Given the description of an element on the screen output the (x, y) to click on. 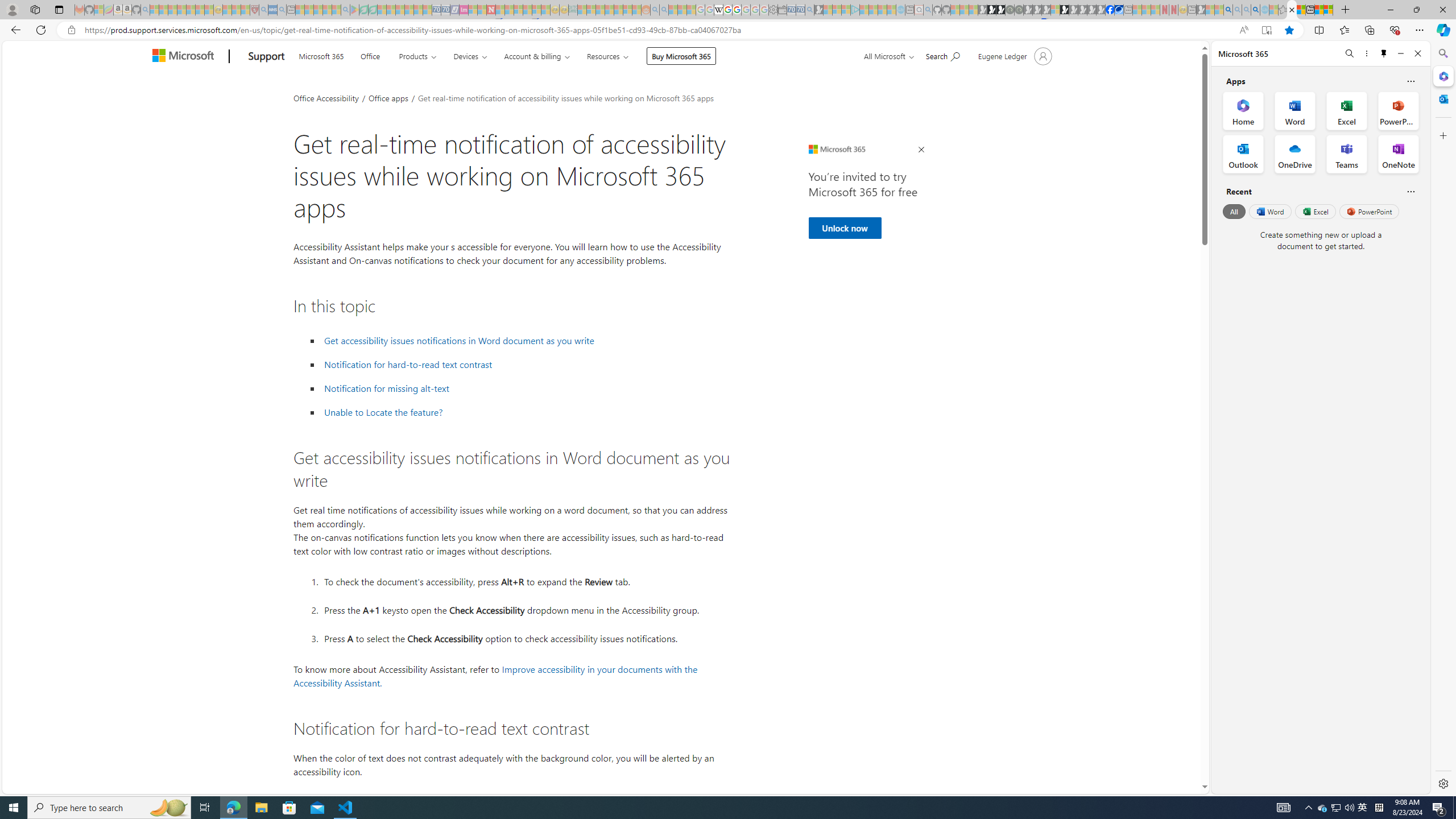
 Notification for missing alt-text (386, 388)
Bing Real Estate - Home sales and rental listings - Sleeping (809, 9)
OneNote Office App (1398, 154)
Is this helpful? (1410, 191)
Microsoft (184, 56)
